Given the description of an element on the screen output the (x, y) to click on. 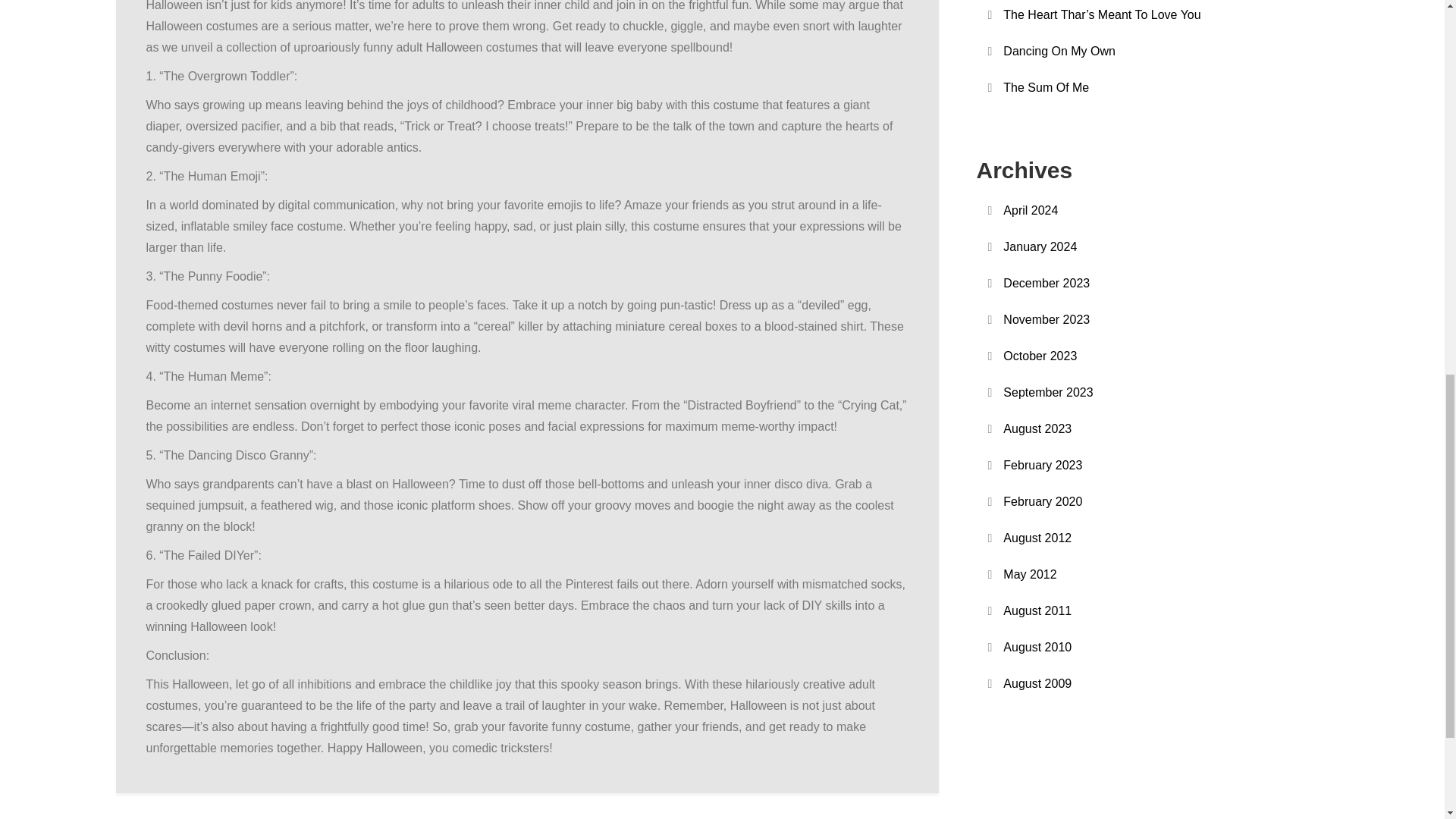
August 2023 (1037, 428)
September 2023 (1048, 392)
February 2020 (1042, 501)
August 2011 (1037, 610)
May 2012 (1030, 574)
October 2023 (1040, 355)
Dancing On My Own (1059, 51)
February 2023 (1042, 465)
January 2024 (1040, 246)
The Sum Of Me (1046, 87)
August 2012 (1037, 537)
August 2009 (1037, 683)
December 2023 (1046, 283)
April 2024 (1030, 210)
August 2010 (1037, 647)
